Given the description of an element on the screen output the (x, y) to click on. 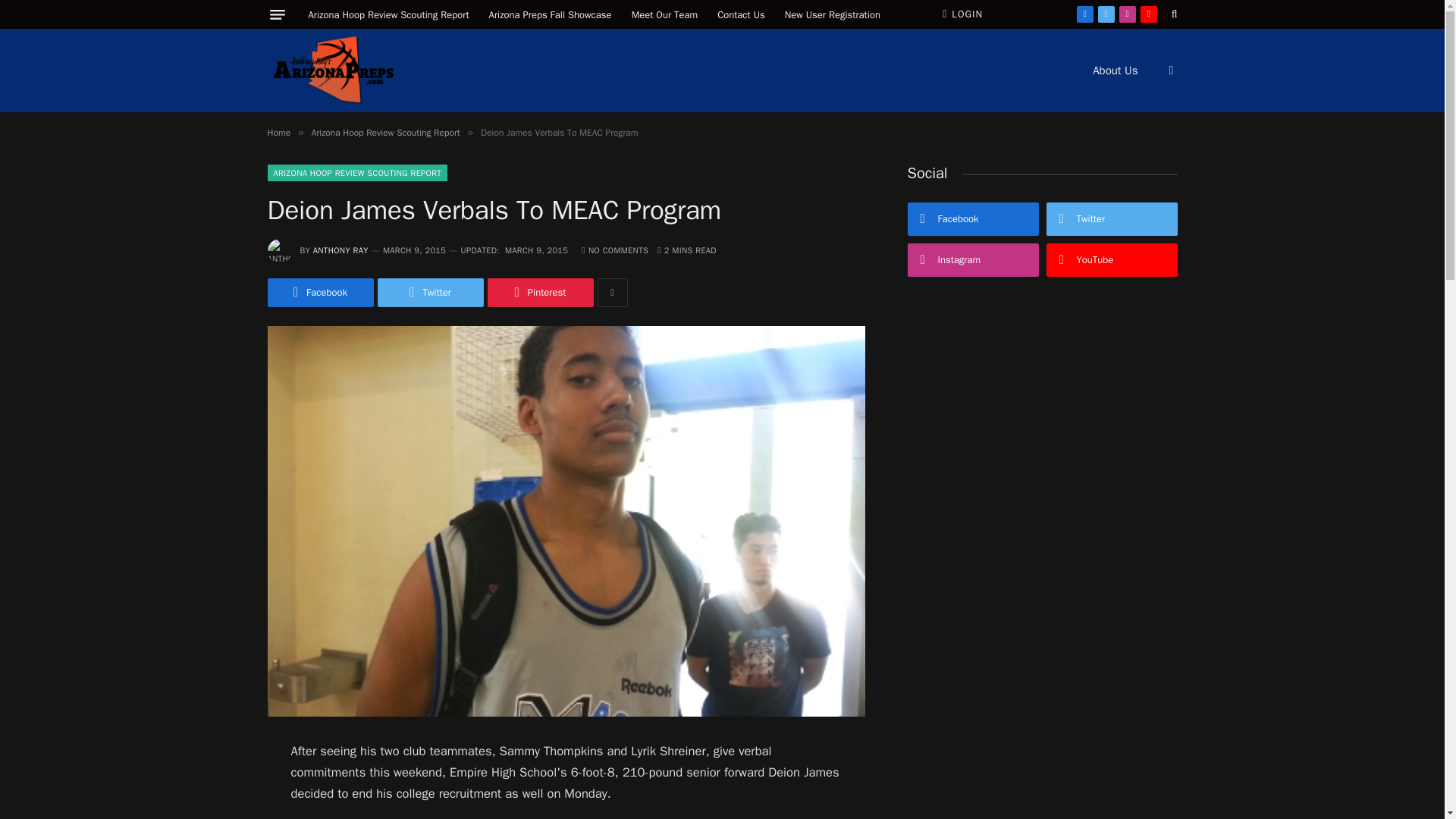
Arizona Hoop Review Scouting Report (385, 132)
Share on Facebook (319, 292)
Facebook (1085, 13)
Posts by Anthony Ray (340, 249)
ANTHONY RAY (340, 249)
New User Registration (831, 14)
Instagram (1127, 13)
Meet Our Team (664, 14)
Twitter (1106, 13)
Search (1173, 14)
Switch to Light Design. (1168, 70)
Home (277, 132)
Arizona Hoop Review Scouting Report (388, 14)
Share on Pinterest (539, 292)
Arizona Preps Fall Showcase (550, 14)
